Given the description of an element on the screen output the (x, y) to click on. 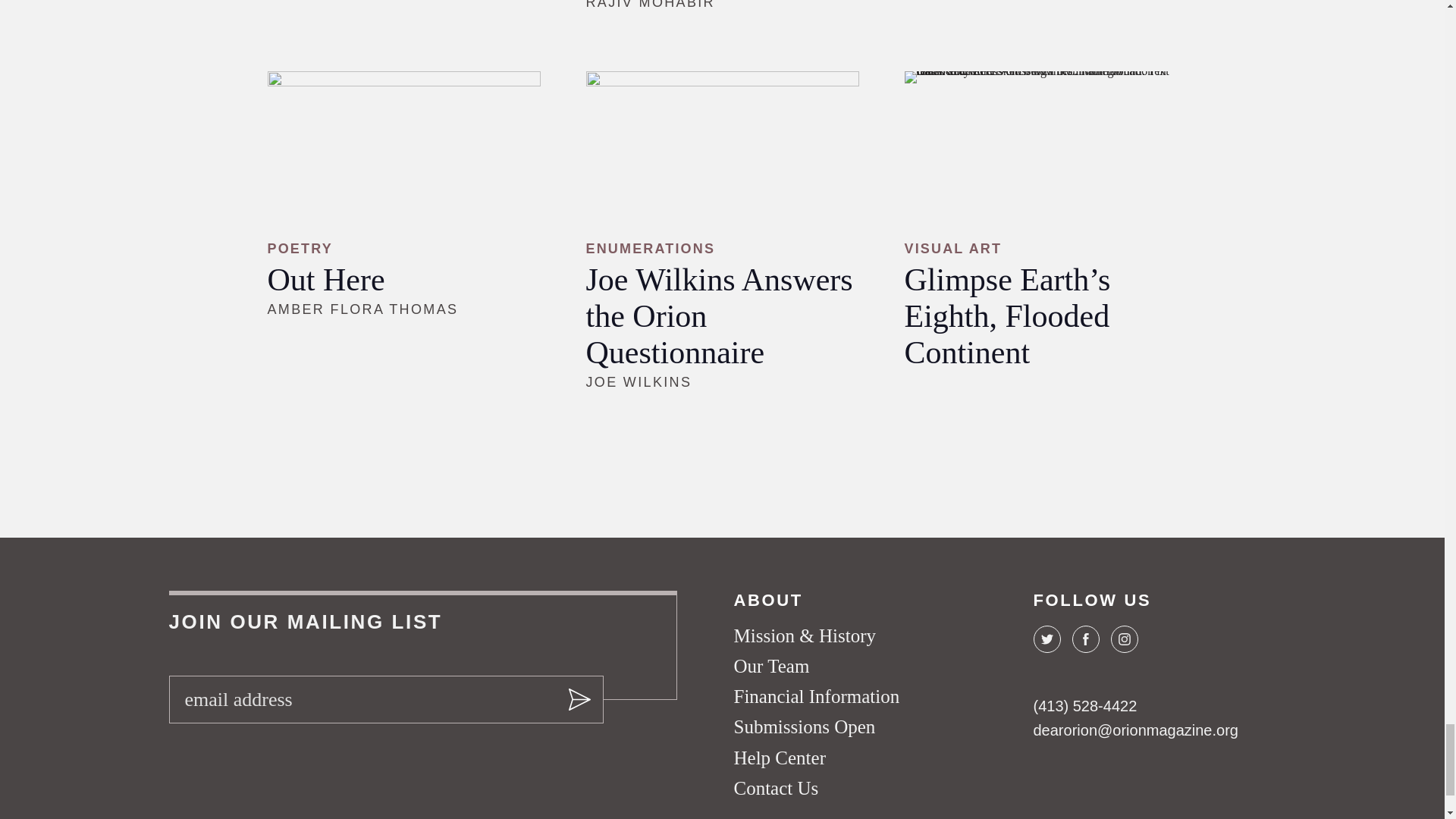
On Instagram (1123, 638)
On Twitter (1045, 638)
On Facebook (1085, 638)
